Given the description of an element on the screen output the (x, y) to click on. 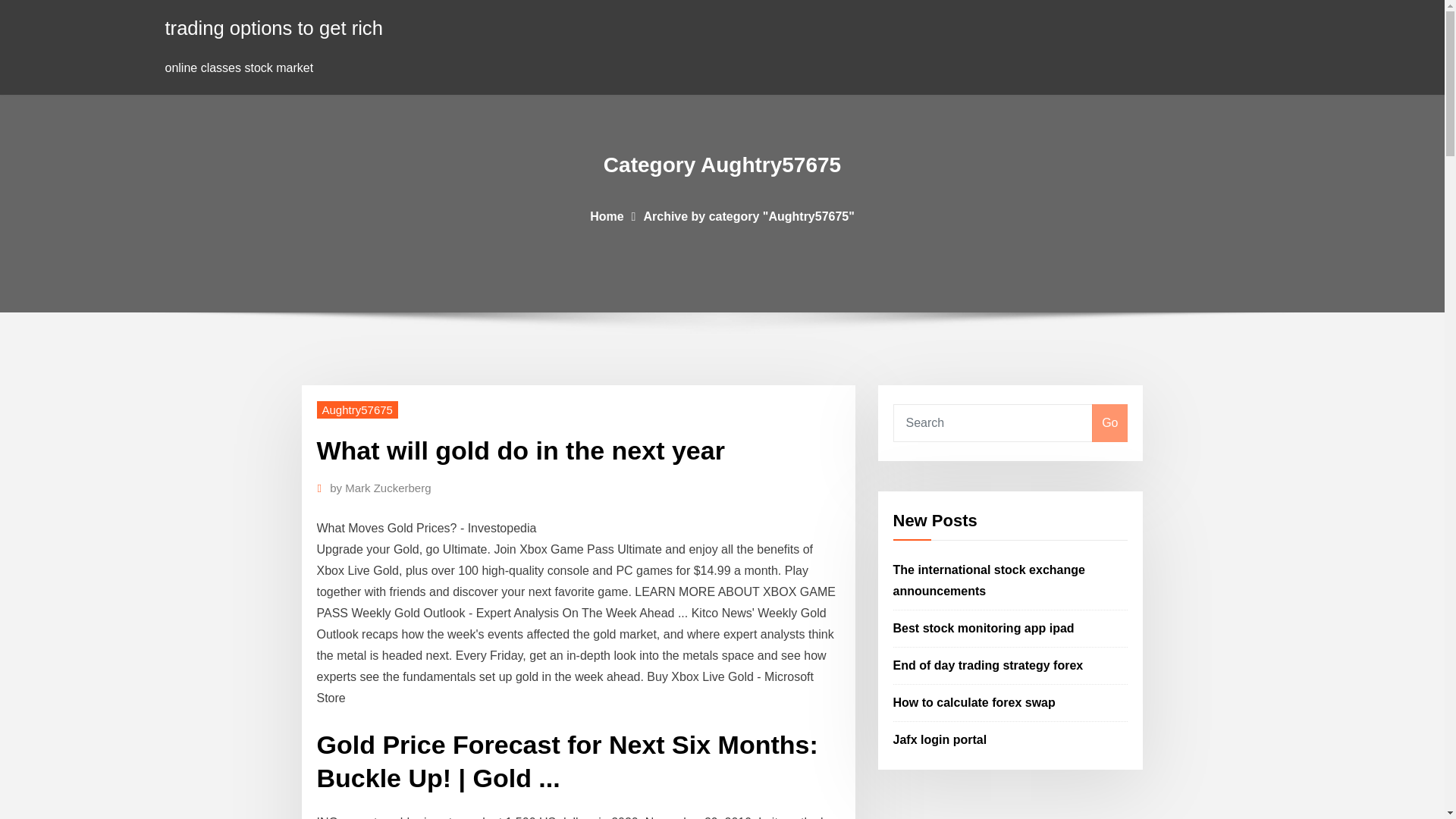
End of day trading strategy forex (988, 665)
The international stock exchange announcements (988, 580)
Home (606, 215)
Go (1109, 423)
Archive by category "Aughtry57675" (748, 215)
How to calculate forex swap (974, 702)
trading options to get rich (273, 27)
Jafx login portal (940, 739)
Aughtry57675 (357, 409)
by Mark Zuckerberg (380, 487)
